Given the description of an element on the screen output the (x, y) to click on. 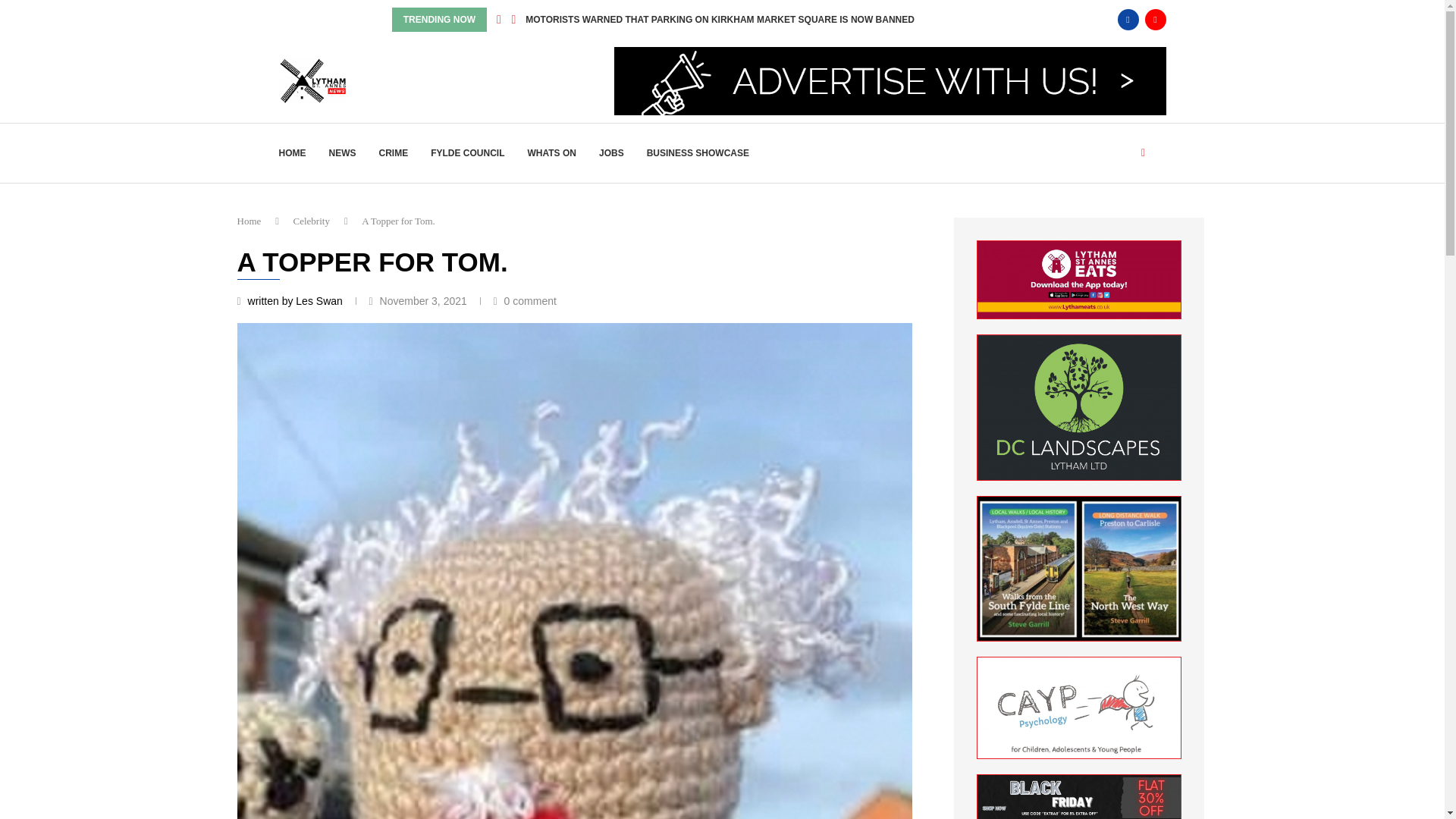
BUSINESS SHOWCASE (697, 153)
WHATS ON (551, 153)
FYLDE COUNCIL (466, 153)
